Given the description of an element on the screen output the (x, y) to click on. 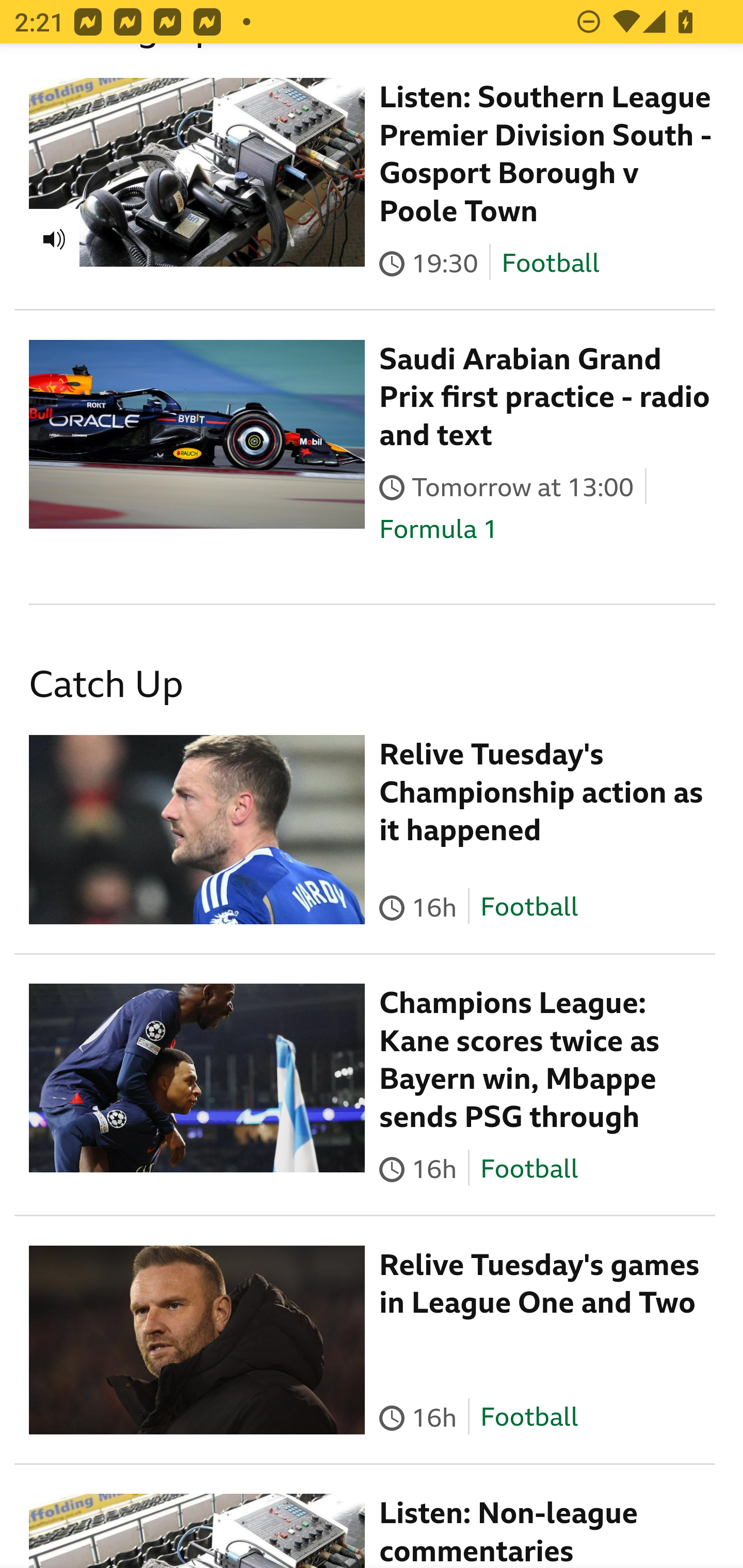
Football (550, 265)
Formula 1 (438, 530)
Football (528, 908)
Football (528, 1169)
Relive Tuesday's games in League One and Two (539, 1286)
Football (528, 1417)
